Given the description of an element on the screen output the (x, y) to click on. 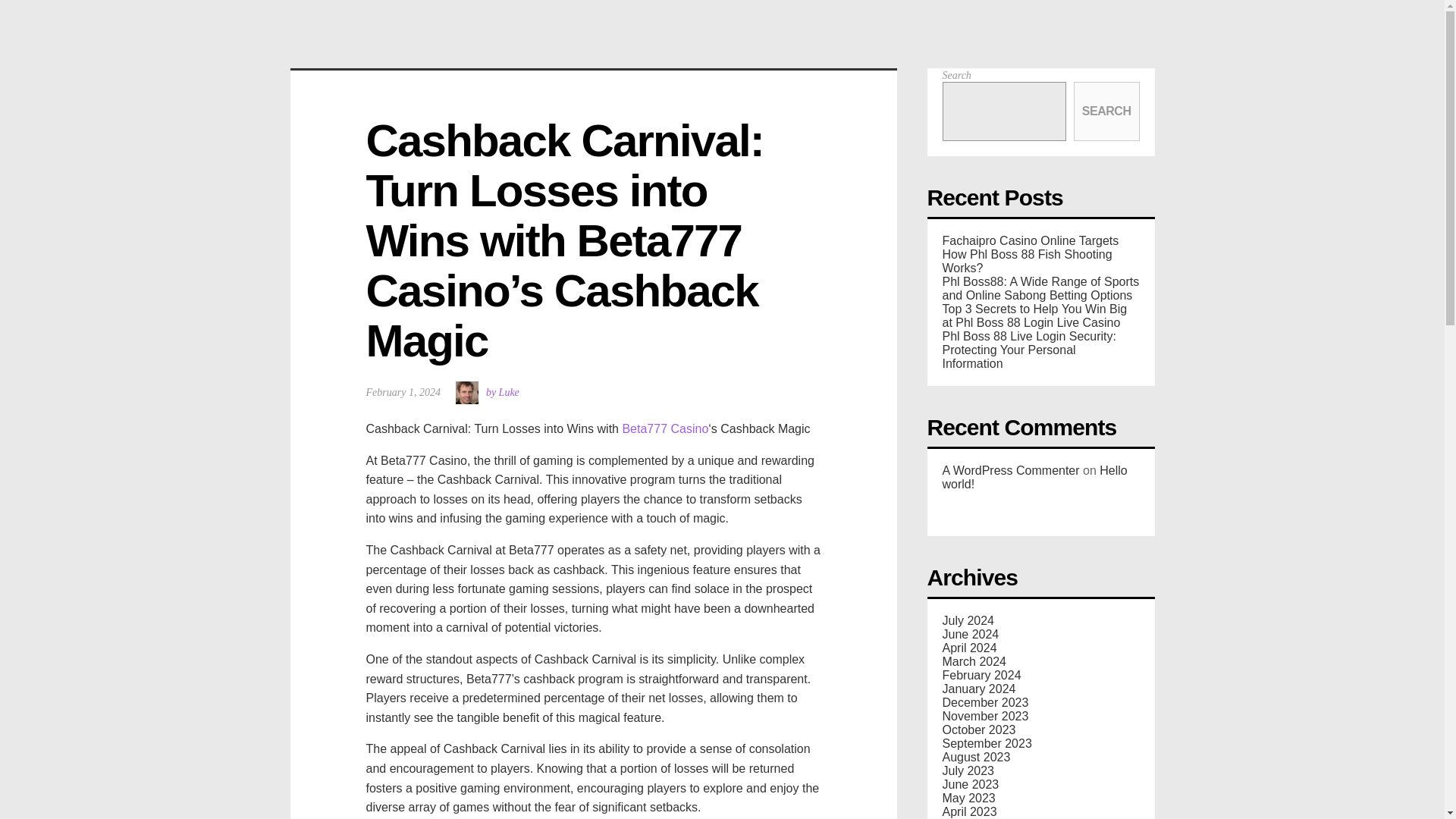
March 2024 (974, 661)
Hello world! (1034, 477)
April 2024 (968, 647)
May 2023 (968, 797)
Fachaipro Casino Online Targets (1030, 240)
June 2023 (970, 784)
January 2024 (978, 688)
How Phl Boss 88 Fish Shooting Works? (1027, 261)
SEARCH (1107, 110)
August 2023 (976, 757)
December 2023 (984, 702)
September 2023 (986, 743)
February 2024 (981, 675)
